Given the description of an element on the screen output the (x, y) to click on. 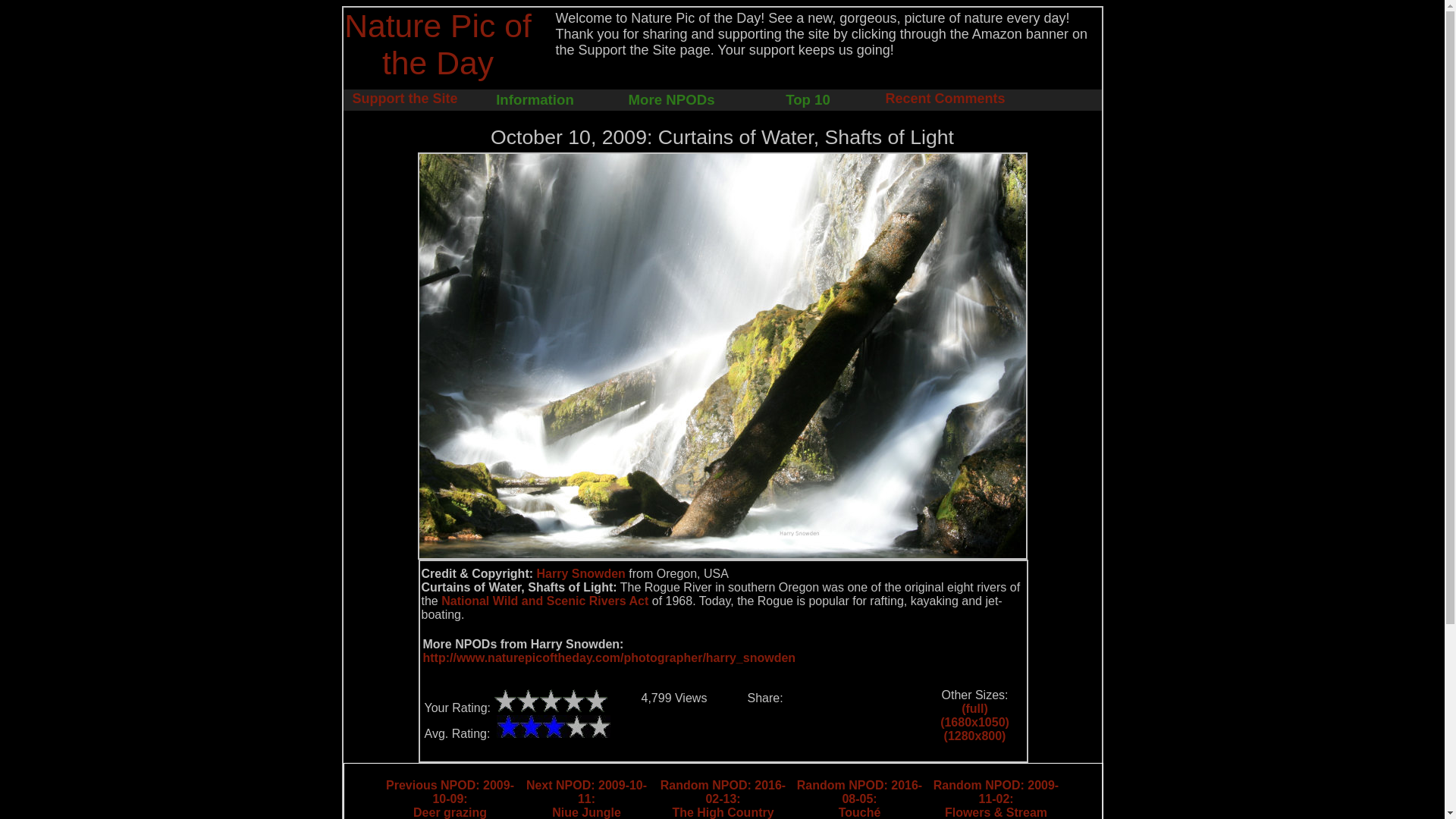
Support the Site (404, 98)
More NPODs (671, 99)
Harry Snowden (449, 798)
Recent Comments (723, 798)
National Wild and Scenic Rivers Act (585, 798)
Information (581, 573)
Nature Pic of the Day (945, 98)
Top 10 (544, 600)
3.1 (534, 99)
